Given the description of an element on the screen output the (x, y) to click on. 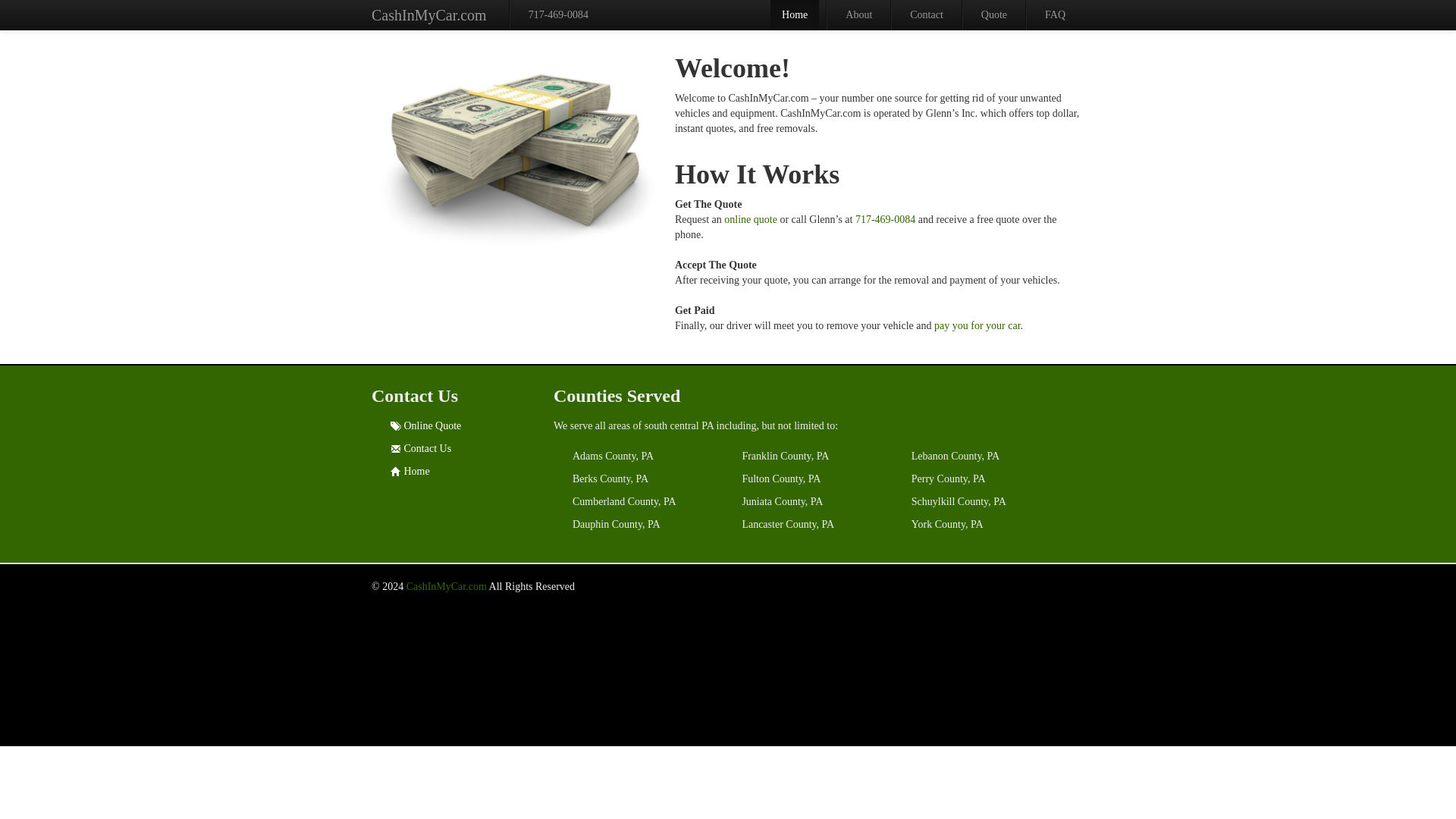
Quote (993, 15)
FAQ (1055, 15)
CashInMyCar.com (429, 15)
Contact Us (427, 448)
pay you for your car (977, 325)
Home (794, 15)
Contact (926, 15)
About (858, 15)
717-469-0084 (557, 15)
online quote (750, 219)
Home (416, 471)
CashInMyCar.com (446, 586)
Online Quote (432, 425)
717-469-0084 (885, 219)
